Given the description of an element on the screen output the (x, y) to click on. 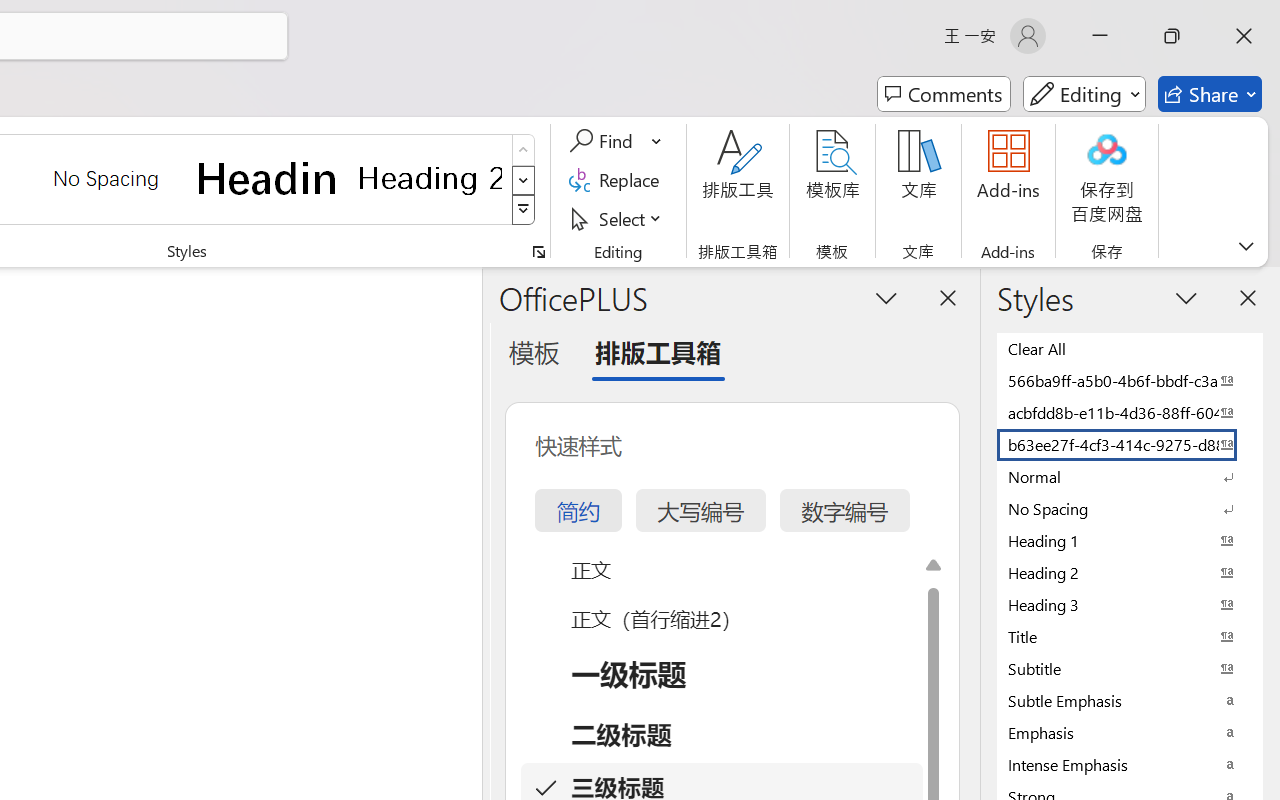
Row up (523, 150)
Ribbon Display Options (1246, 245)
Intense Emphasis (1130, 764)
Close (1244, 36)
Clear All (1130, 348)
Select (618, 218)
Share (1210, 94)
Emphasis (1130, 732)
